Given the description of an element on the screen output the (x, y) to click on. 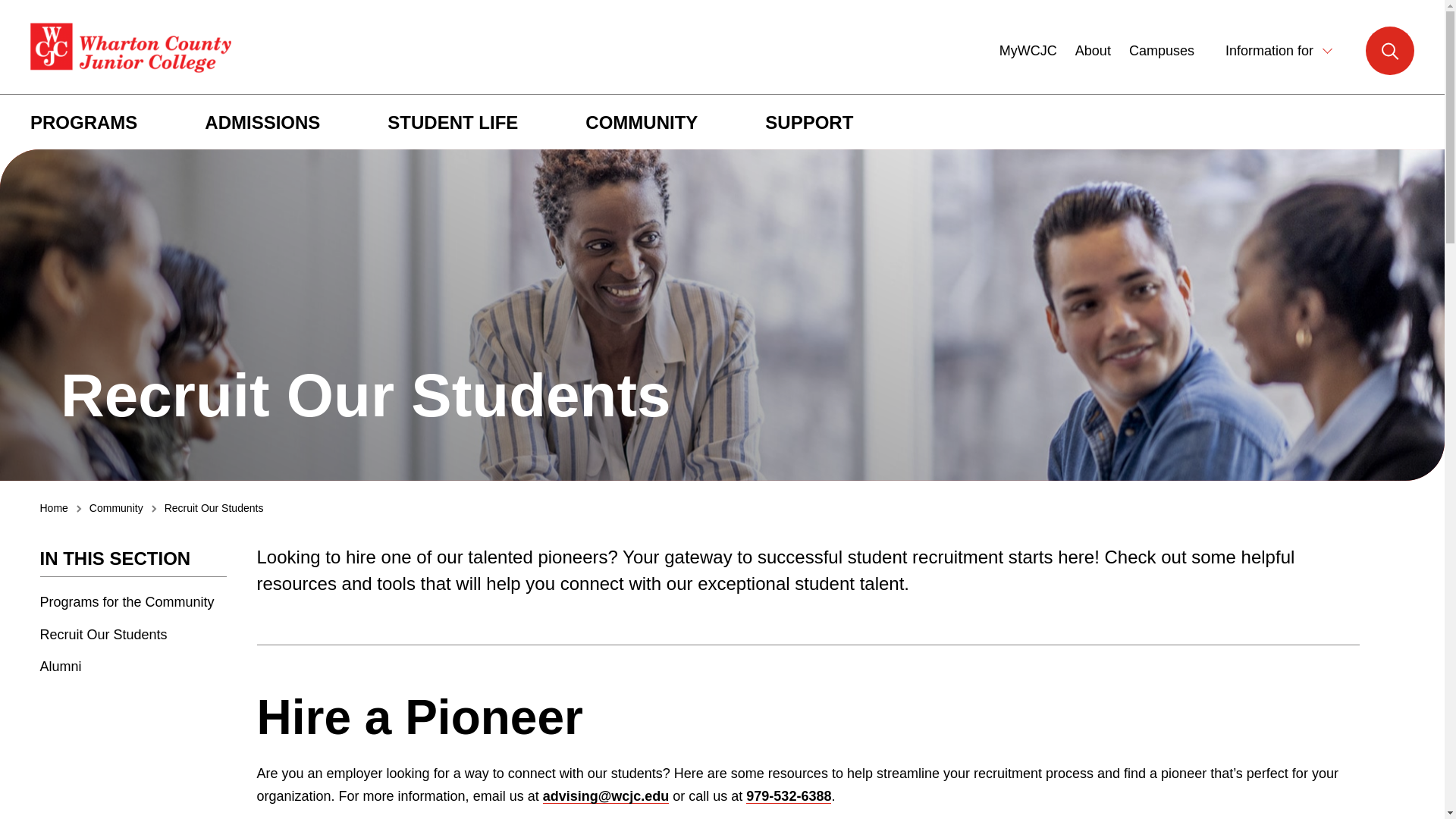
MyWCJC (1027, 48)
Campuses (1161, 51)
About (1092, 51)
open search (1389, 50)
Admissions (262, 122)
Information for (1280, 50)
Wharton - home page (130, 48)
MyWCJC (1027, 48)
Programs (83, 122)
Campuses (1161, 51)
PROGRAMS (83, 122)
ADMISSIONS (262, 122)
About (1092, 51)
STUDENT LIFE (452, 122)
